Given the description of an element on the screen output the (x, y) to click on. 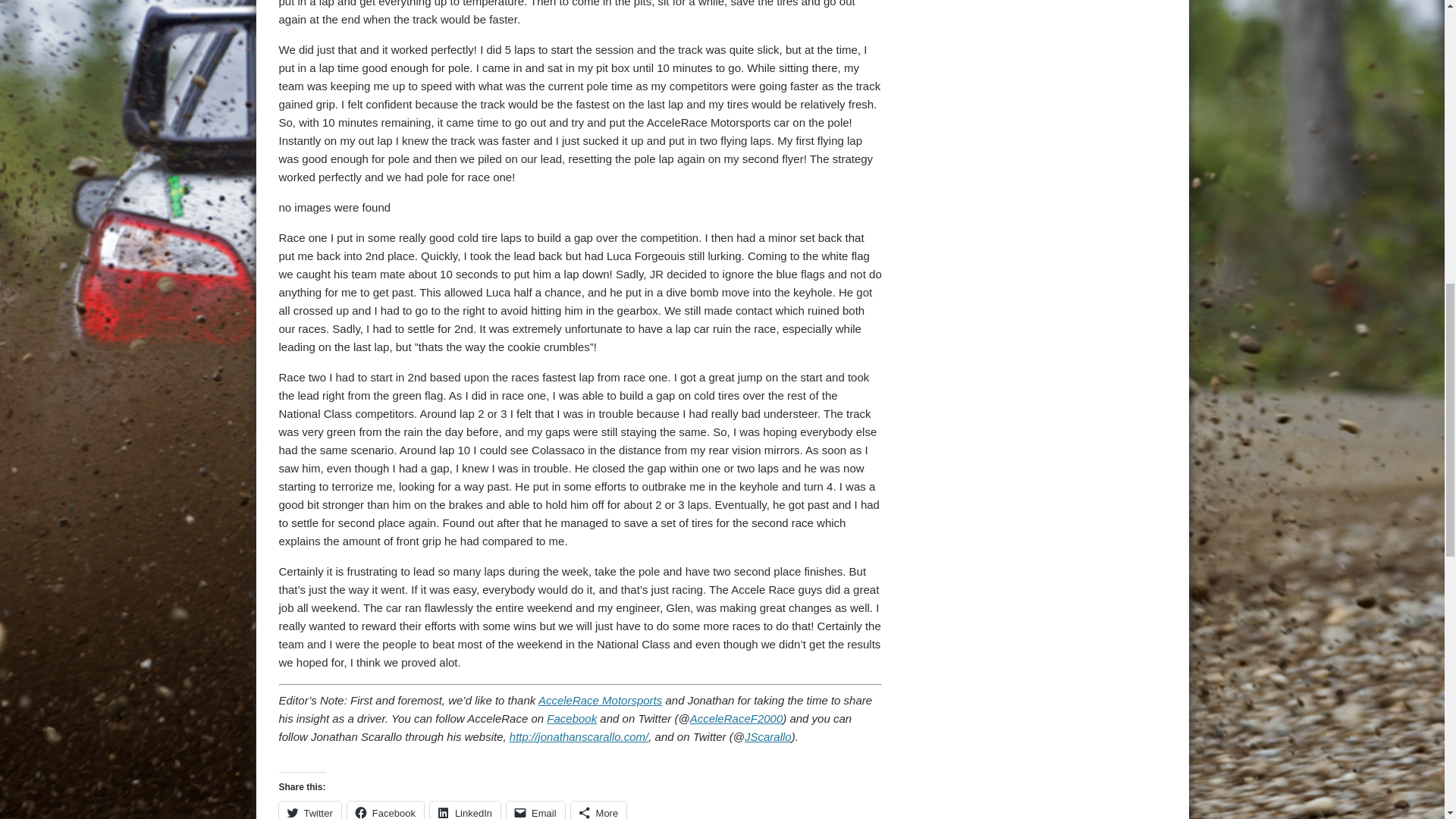
Click to share on LinkedIn (464, 810)
Email (535, 810)
Twitter (309, 810)
Click to share on Facebook (385, 810)
Click to share on Twitter (309, 810)
More (598, 810)
Click to email a link to a friend (535, 810)
Facebook (385, 810)
Facebook (571, 717)
AcceleRaceF2000 (736, 717)
